Given the description of an element on the screen output the (x, y) to click on. 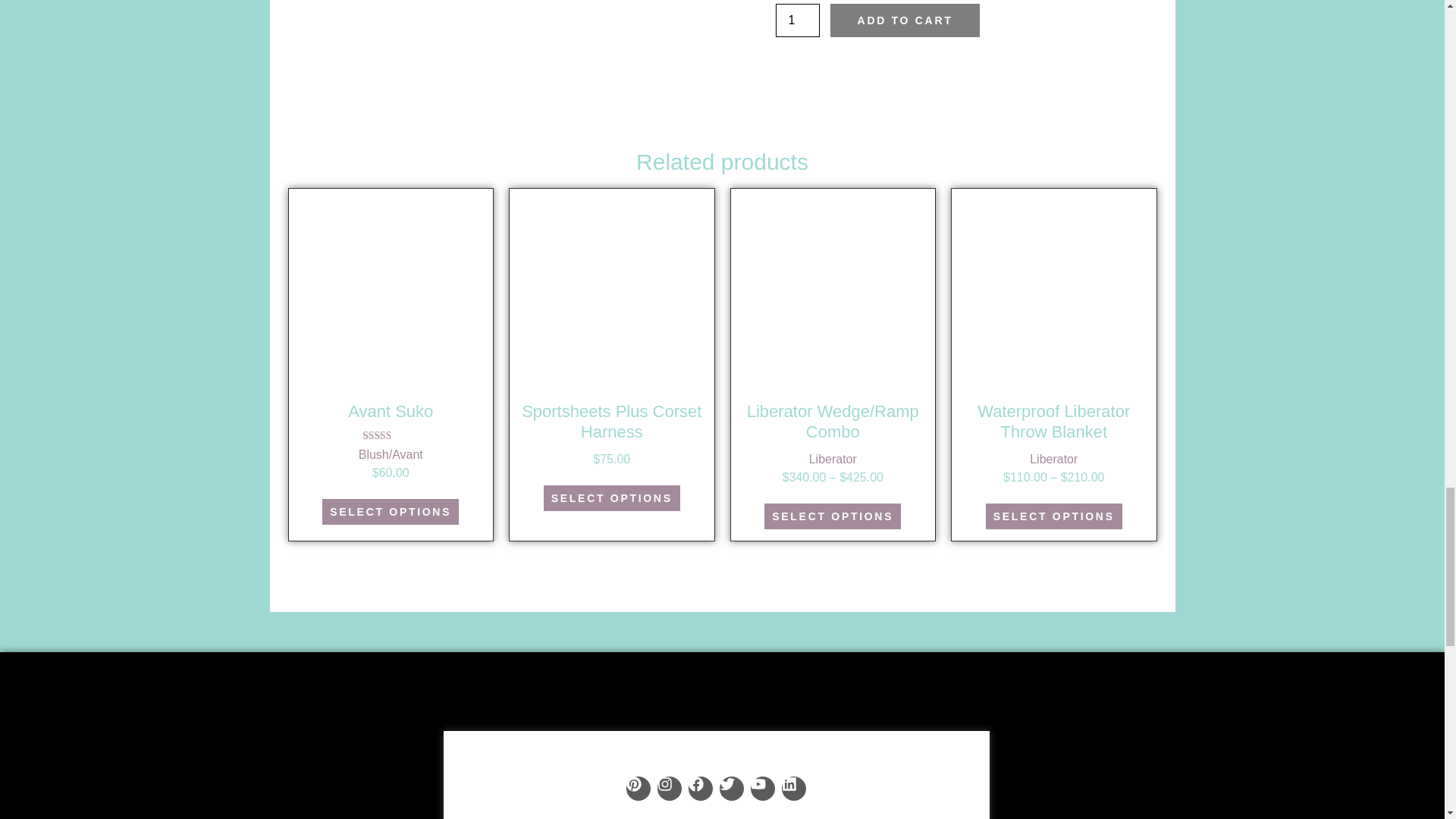
1 (796, 20)
